Given the description of an element on the screen output the (x, y) to click on. 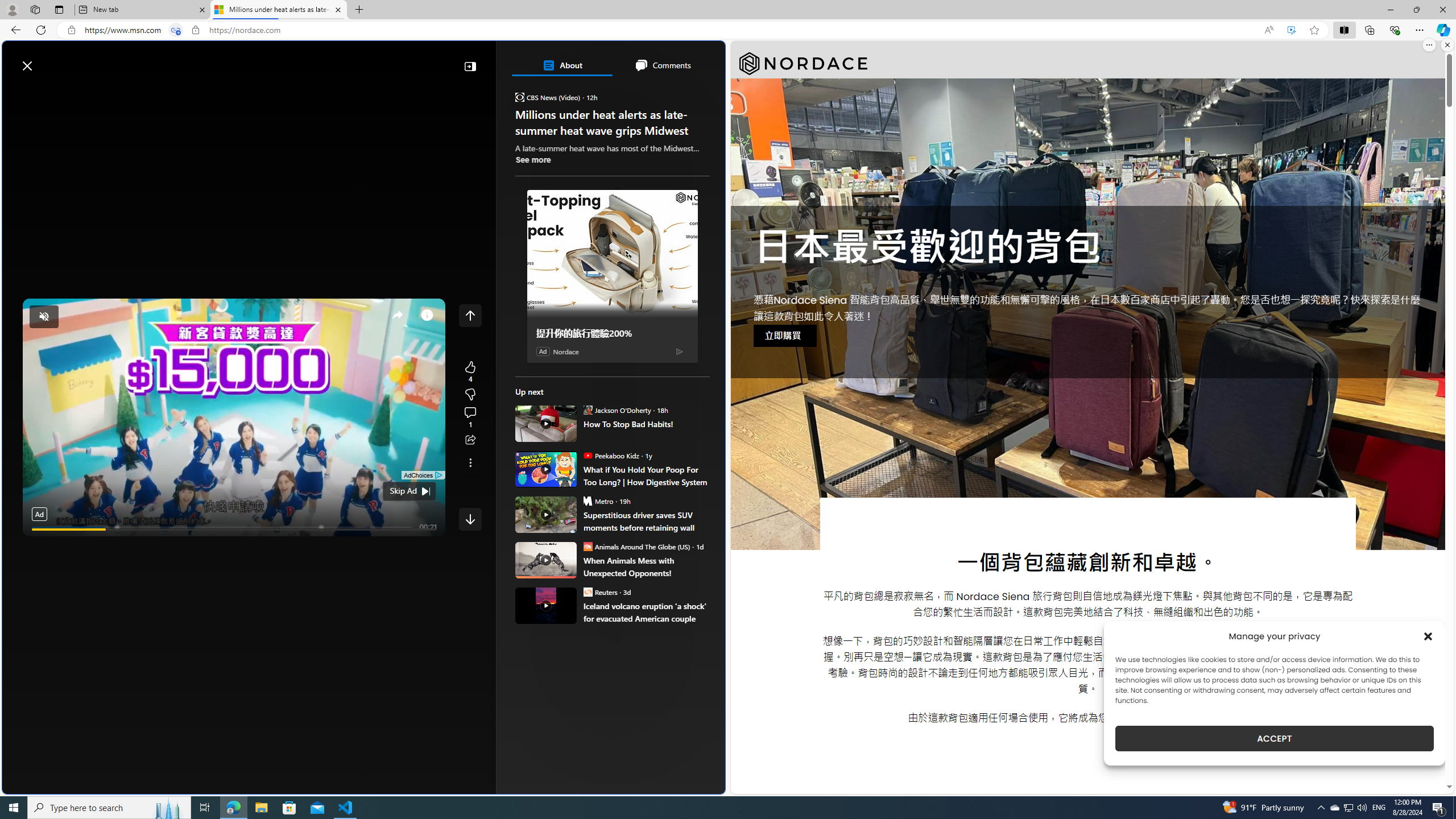
Class: control (469, 518)
Close split screen. (1447, 45)
Skip to content (49, 59)
Collapse (469, 65)
View comments 1 Comment (469, 417)
Skip Ad (403, 490)
Jackson O'Doherty Jackson O'Doherty (616, 409)
Jackson O'Doherty (587, 409)
4 Like (469, 371)
